Given the description of an element on the screen output the (x, y) to click on. 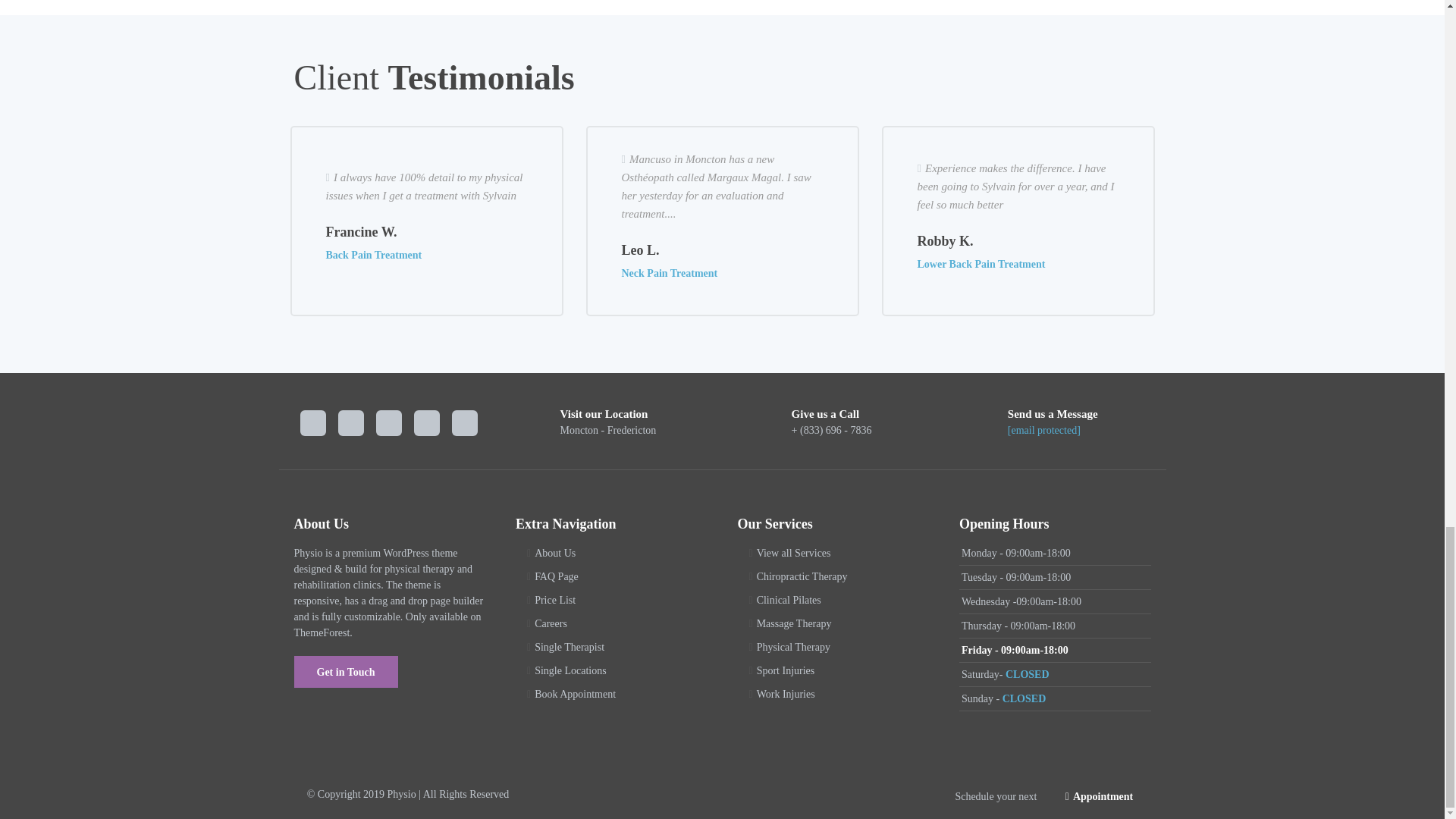
Single Therapist (569, 646)
Get in Touch (345, 671)
Price List (554, 600)
View all Services (794, 552)
FAQ Page (556, 576)
Physical Therapy (793, 646)
Careers (550, 623)
Book Appointment (574, 694)
Single Locations (570, 670)
Massage Therapy (794, 623)
Clinical Pilates (789, 600)
Chiropractic Therapy (802, 576)
About Us (554, 552)
